Given the description of an element on the screen output the (x, y) to click on. 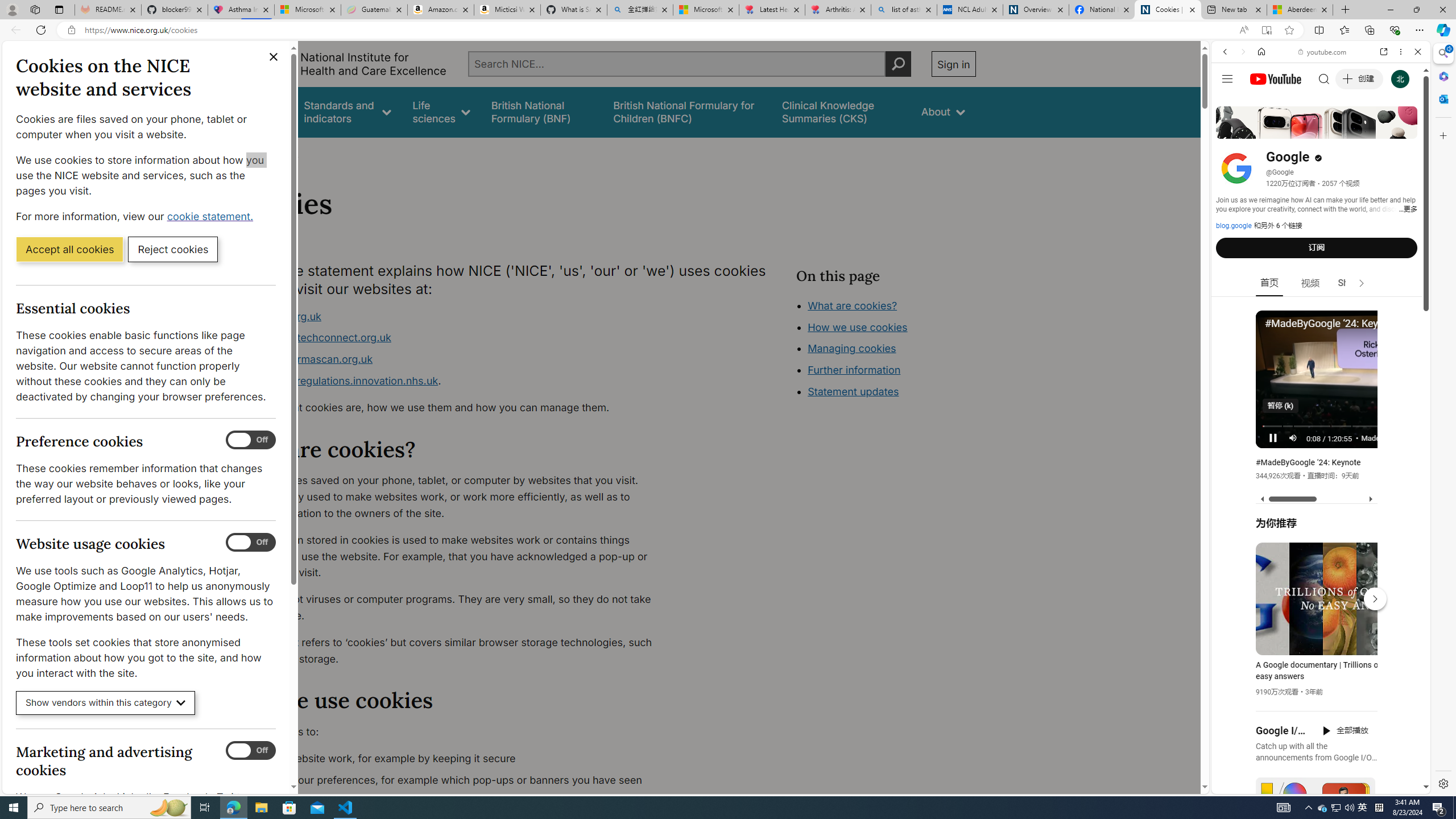
Perform search (898, 63)
cookie statement. (Opens in a new window) (211, 215)
Google I/O 2024 (1281, 730)
